Given the description of an element on the screen output the (x, y) to click on. 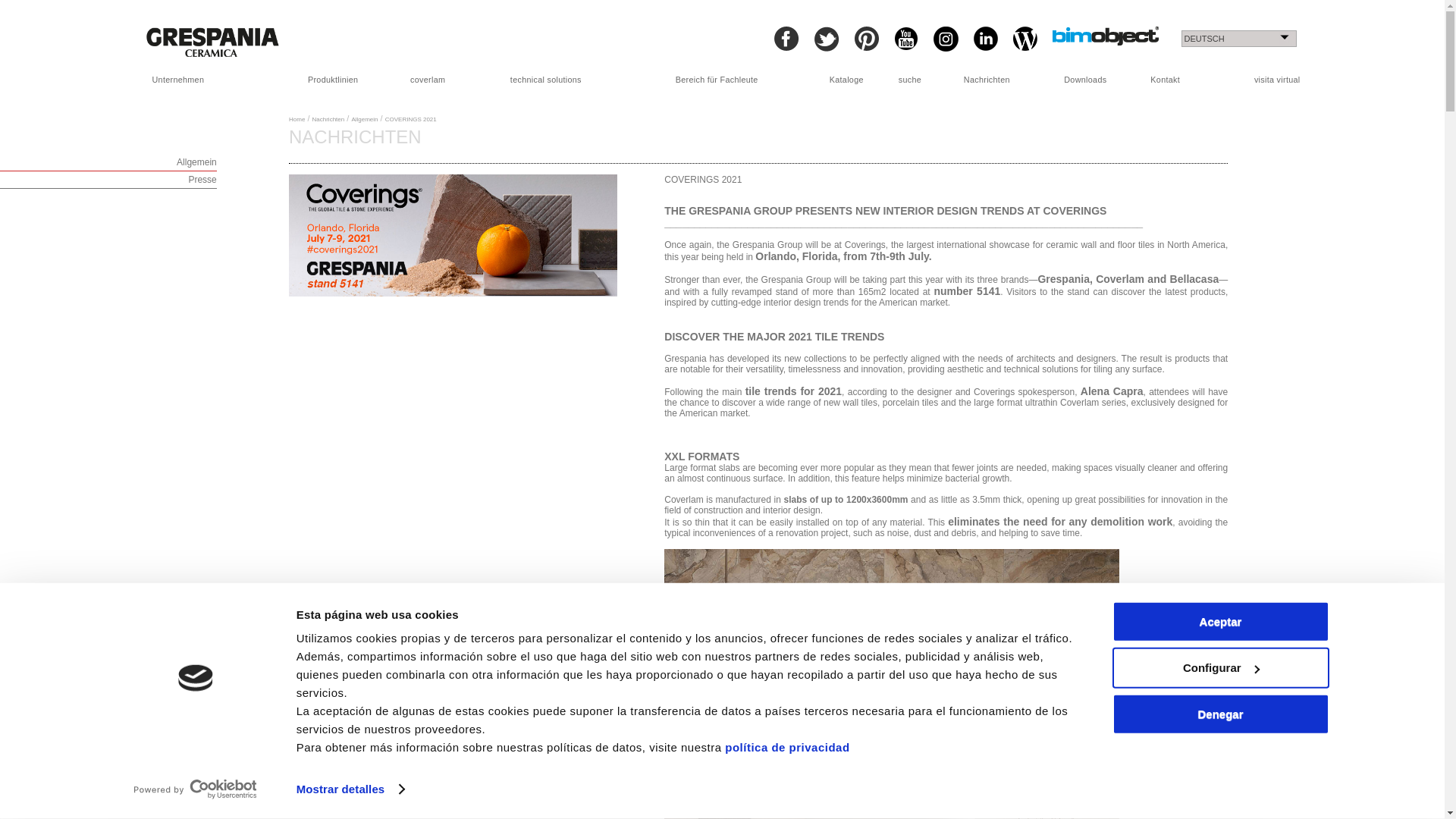
facebook (785, 38)
home (212, 40)
pinterest (865, 38)
youtube (905, 38)
Mostrar detalles (350, 789)
twitter (826, 38)
linkedin (985, 38)
wordpress (1024, 38)
Denegar (1219, 713)
bimobject (1105, 35)
instagram (945, 38)
